Given the description of an element on the screen output the (x, y) to click on. 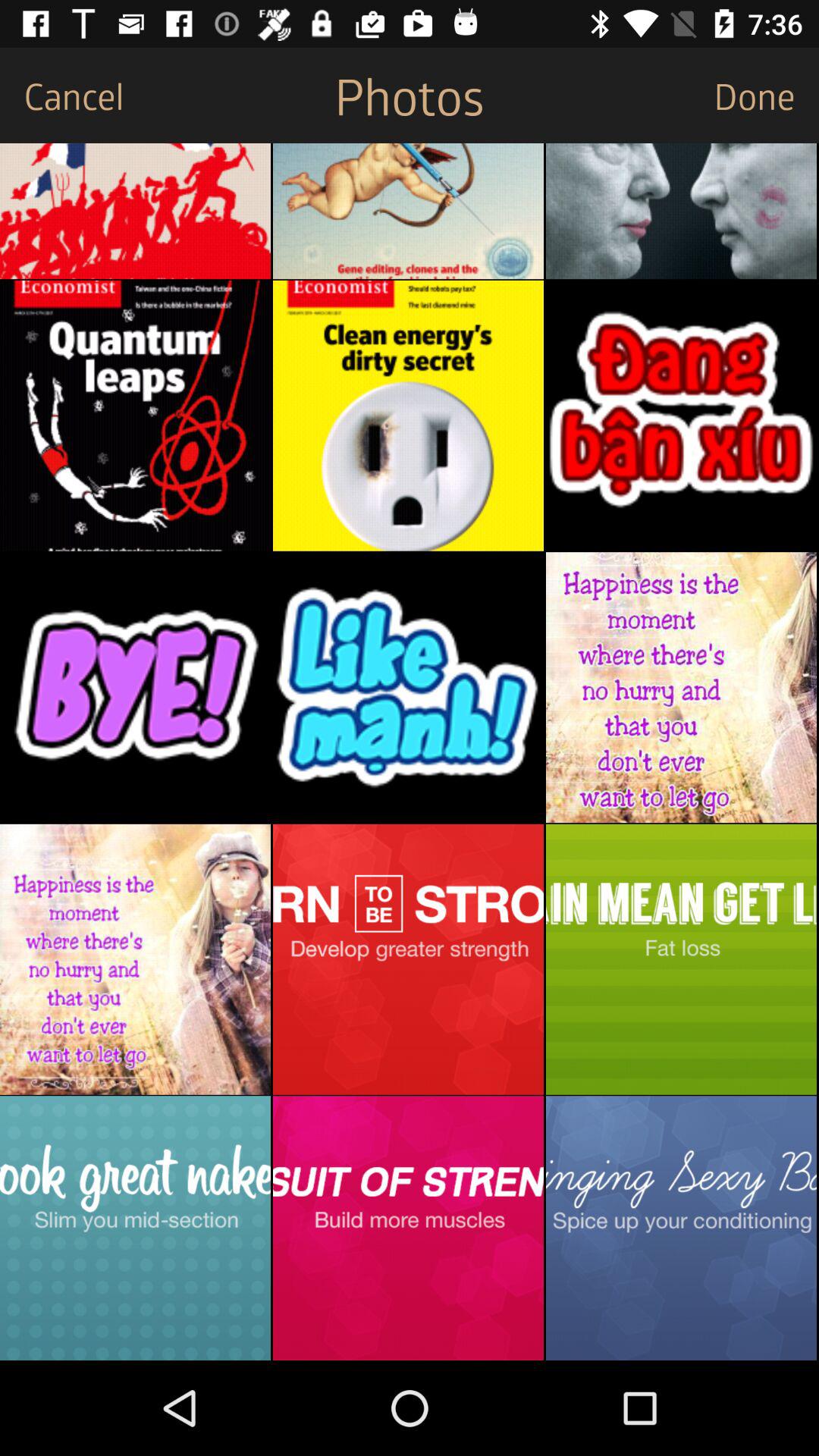
turn off the done item (766, 95)
